Given the description of an element on the screen output the (x, y) to click on. 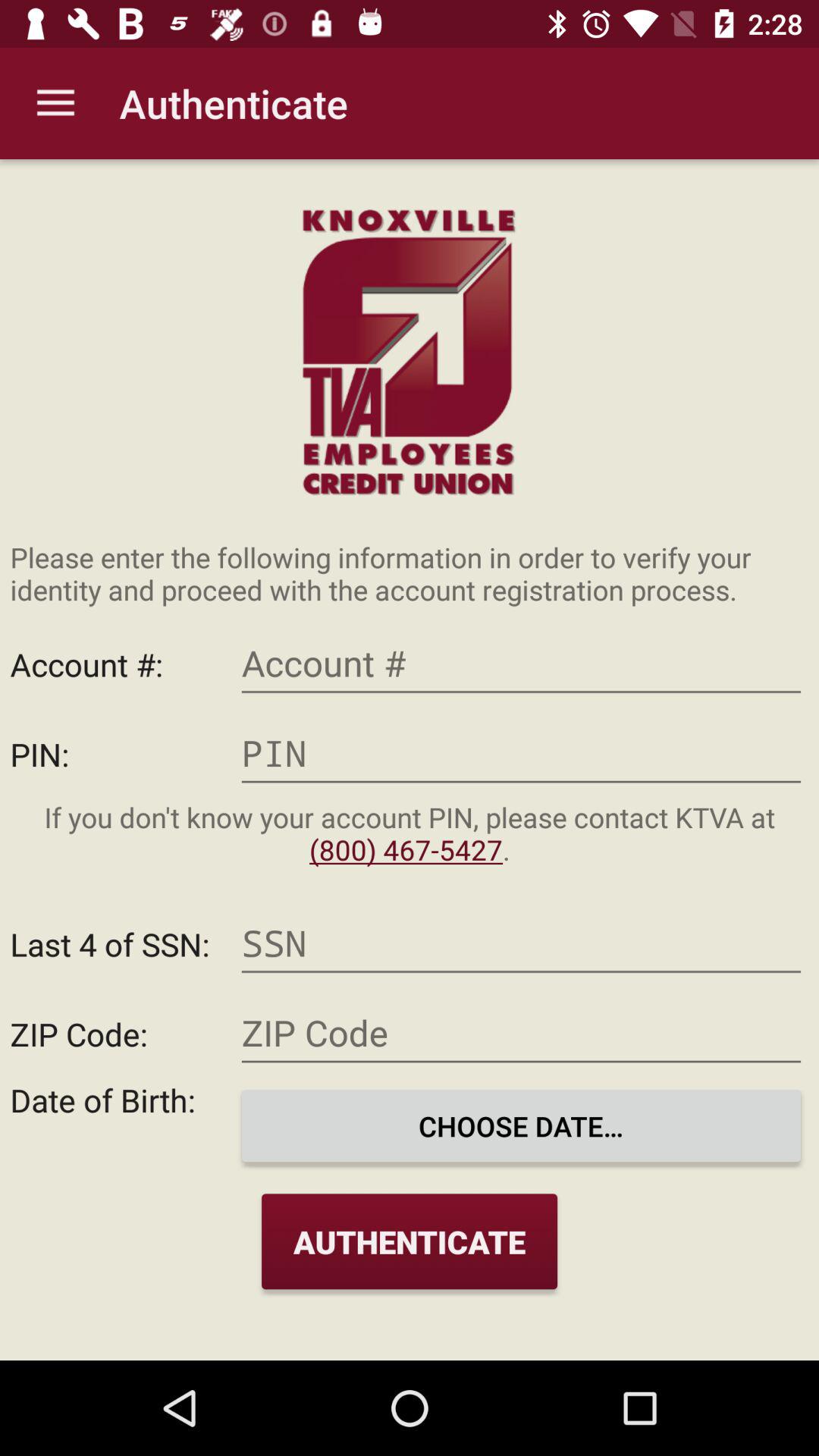
flip to the if you don item (409, 833)
